Given the description of an element on the screen output the (x, y) to click on. 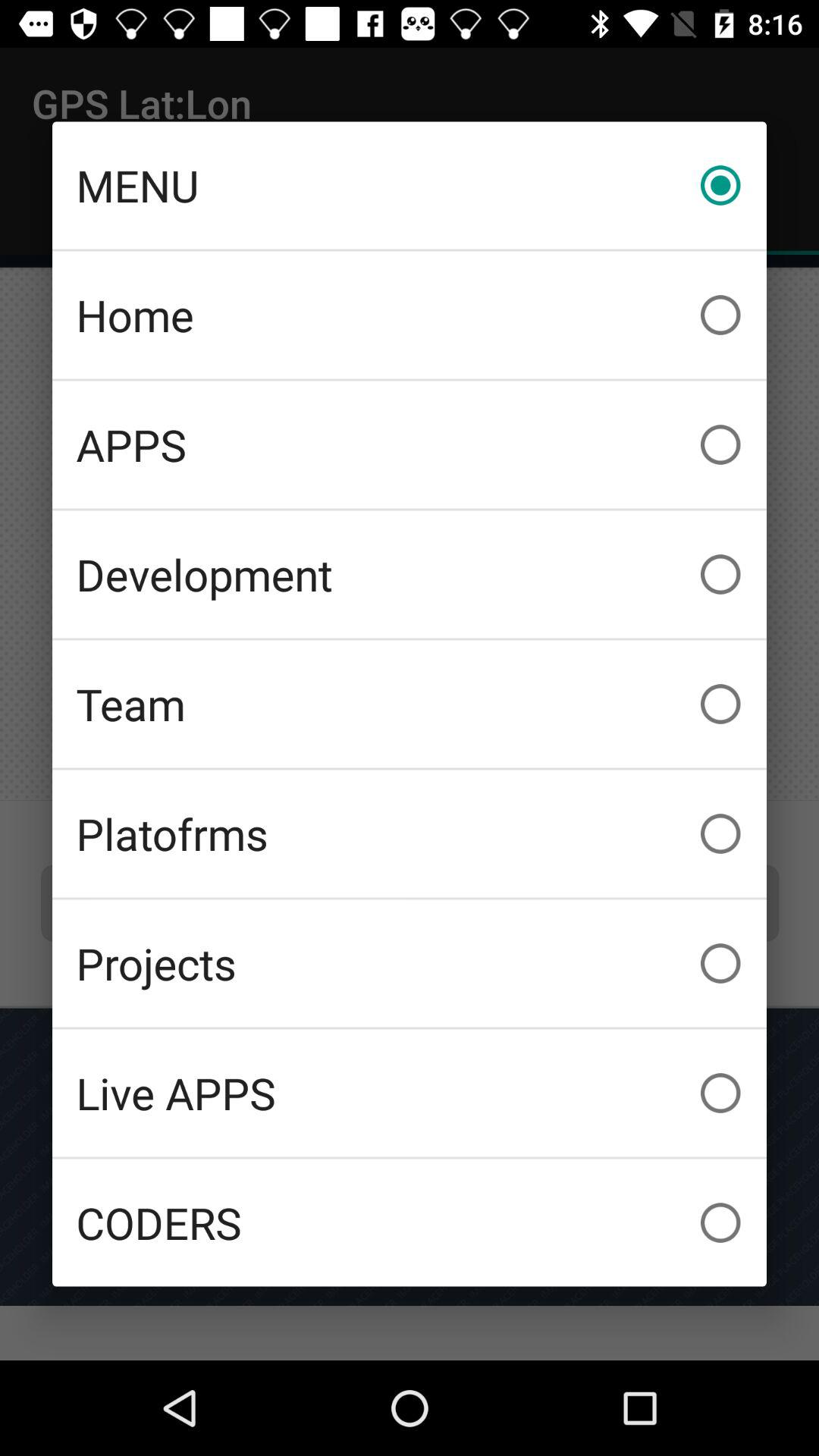
turn off projects icon (409, 963)
